Given the description of an element on the screen output the (x, y) to click on. 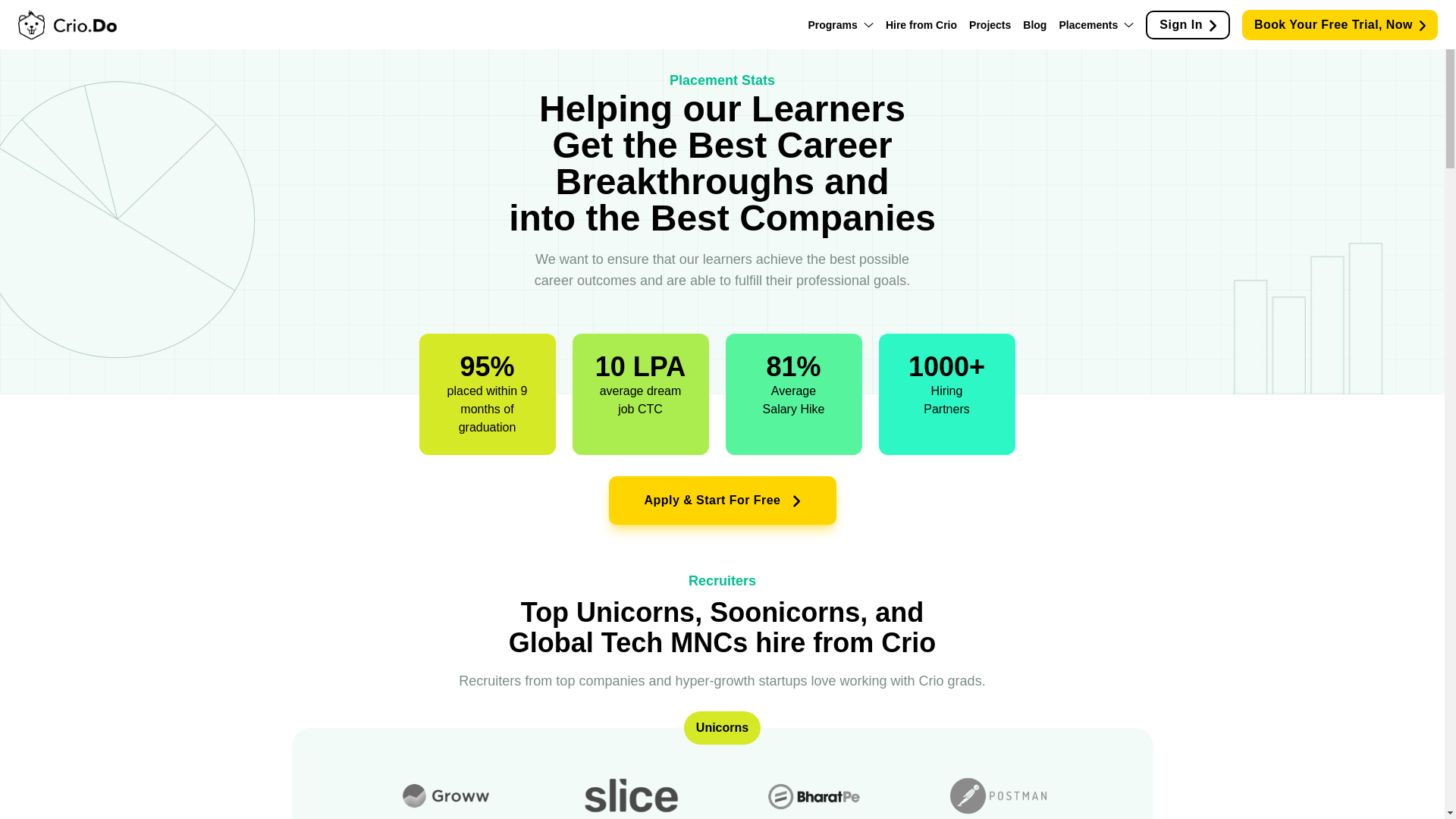
Hire from Crio (920, 23)
Sign In (1187, 24)
Book Your Free Trial, Now (1339, 24)
Blog (1034, 23)
Projects (989, 23)
